Given the description of an element on the screen output the (x, y) to click on. 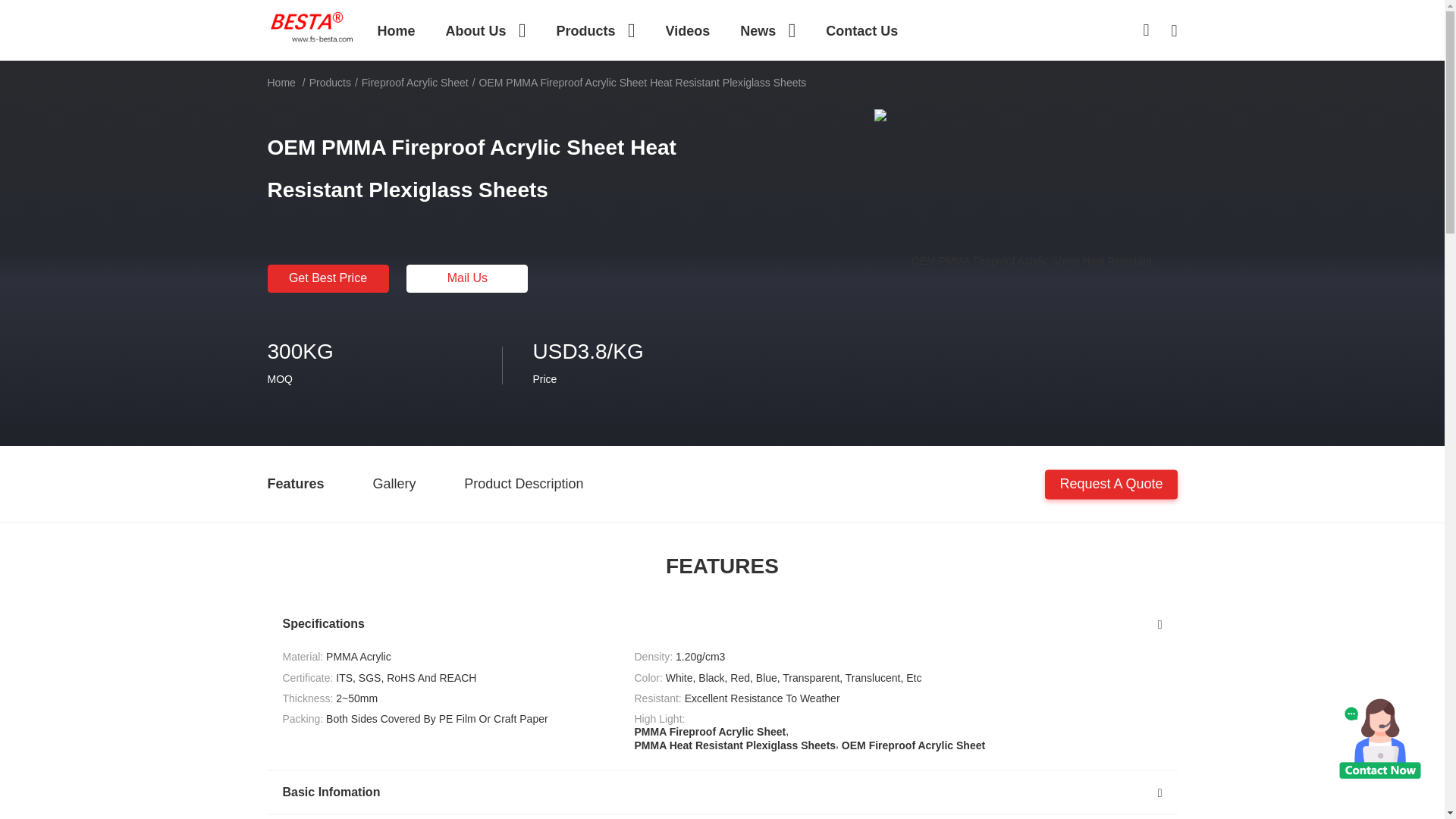
About Us (485, 30)
BESTA ACRYLIC CO., LTD. (312, 26)
About Us (485, 30)
Products (595, 30)
Products (595, 30)
